Given the description of an element on the screen output the (x, y) to click on. 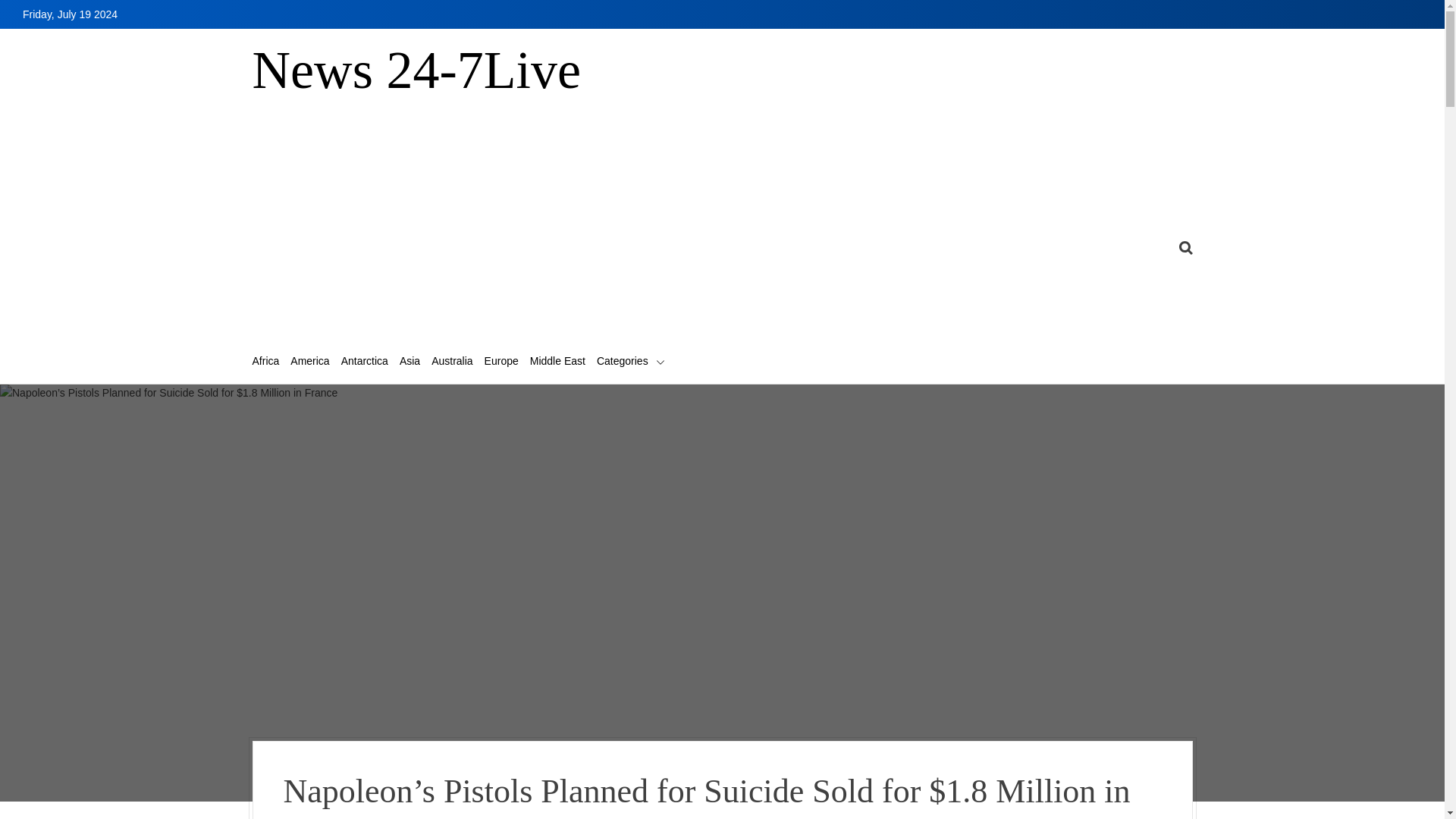
Australia (450, 360)
Categories (630, 361)
Africa (265, 360)
Europe (501, 360)
Asia (409, 360)
News 24-7Live (415, 70)
Antarctica (364, 360)
America (309, 360)
Middle East (557, 360)
Advertisement (458, 241)
